Given the description of an element on the screen output the (x, y) to click on. 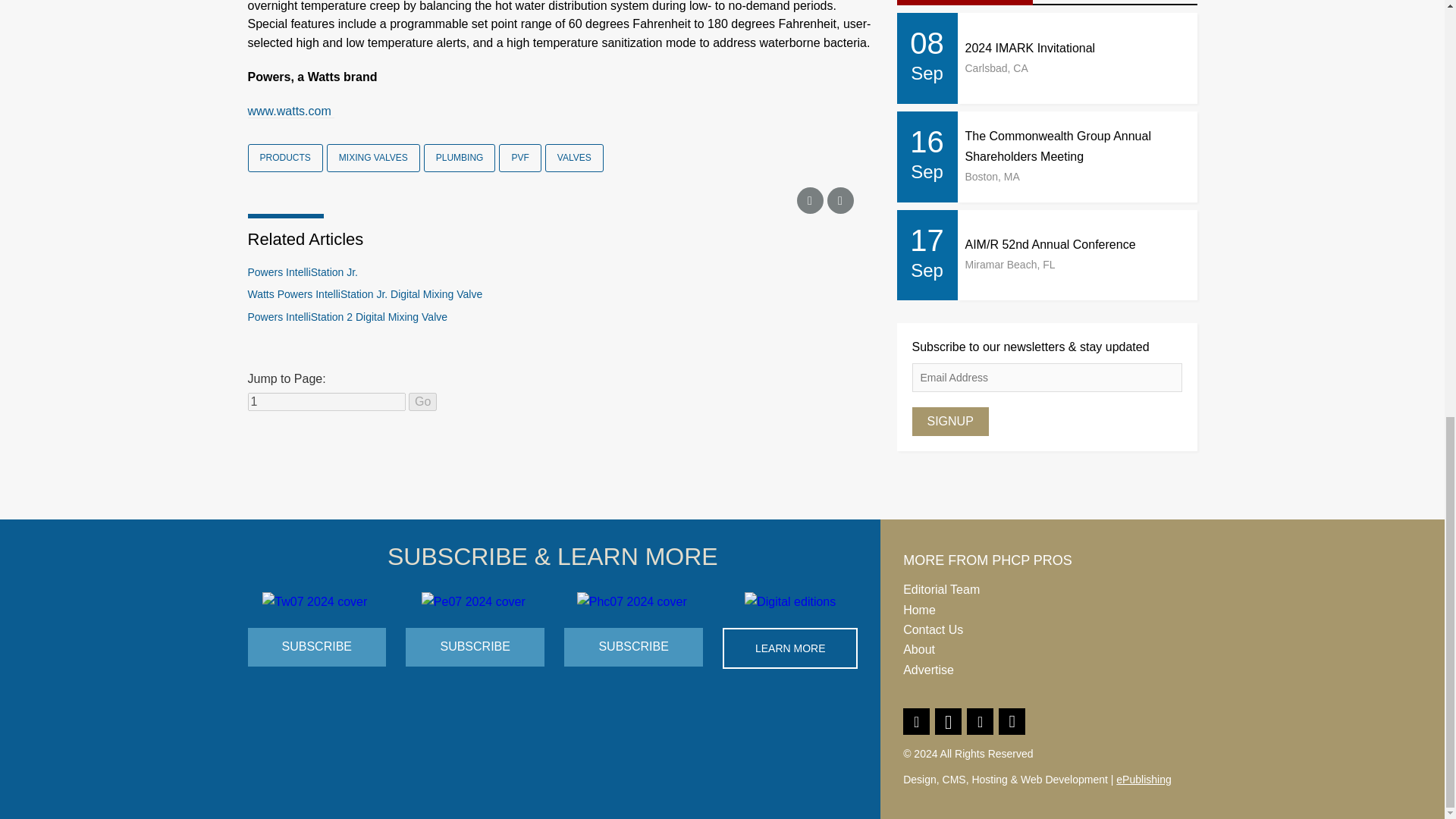
Go (422, 402)
1 (325, 402)
SIGNUP (949, 421)
